Given the description of an element on the screen output the (x, y) to click on. 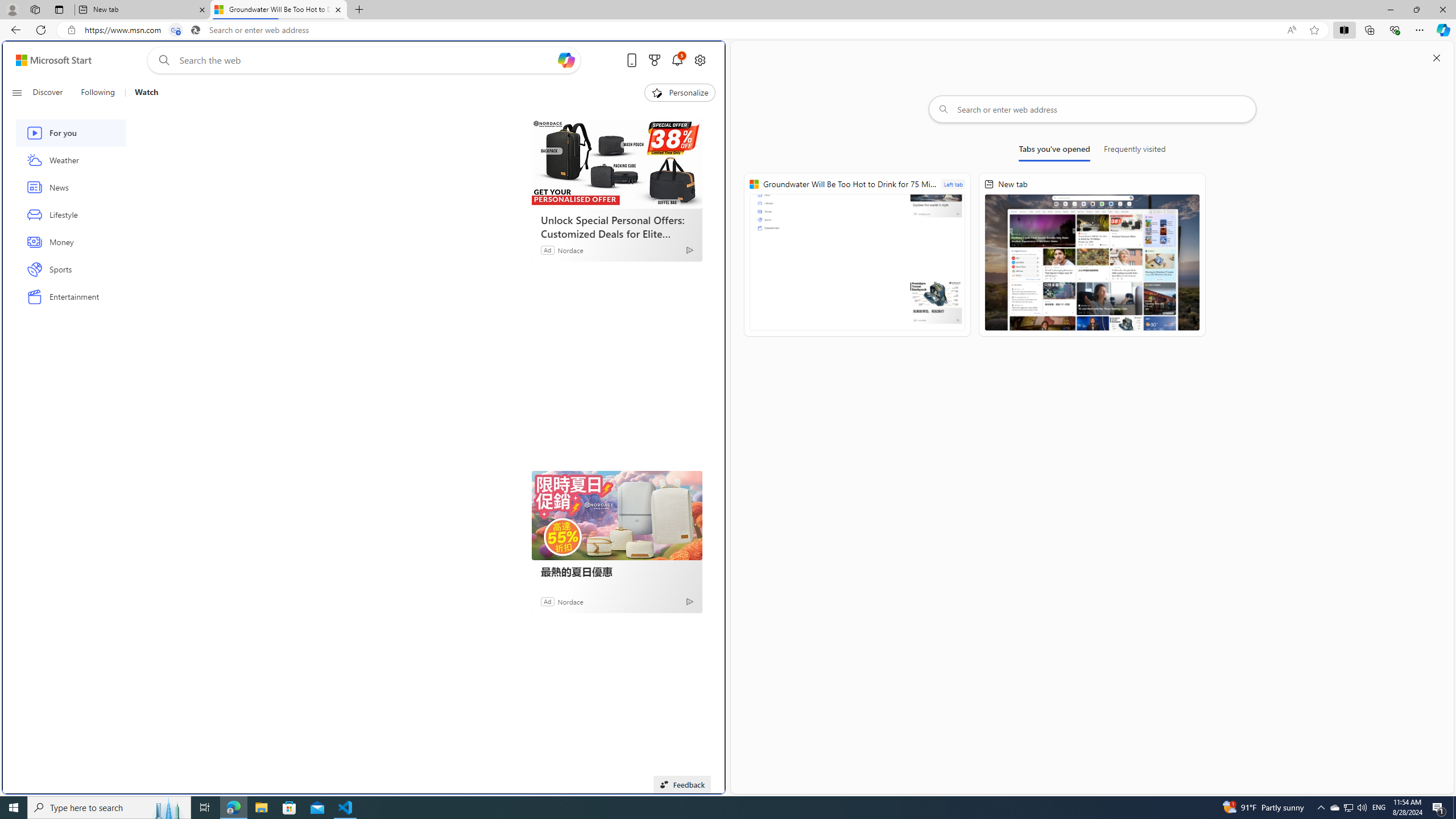
Class: button-glyph (16, 92)
Personalize (679, 92)
Close split screen (1436, 57)
Microsoft rewards (654, 60)
Tabs in split screen (175, 29)
